Given the description of an element on the screen output the (x, y) to click on. 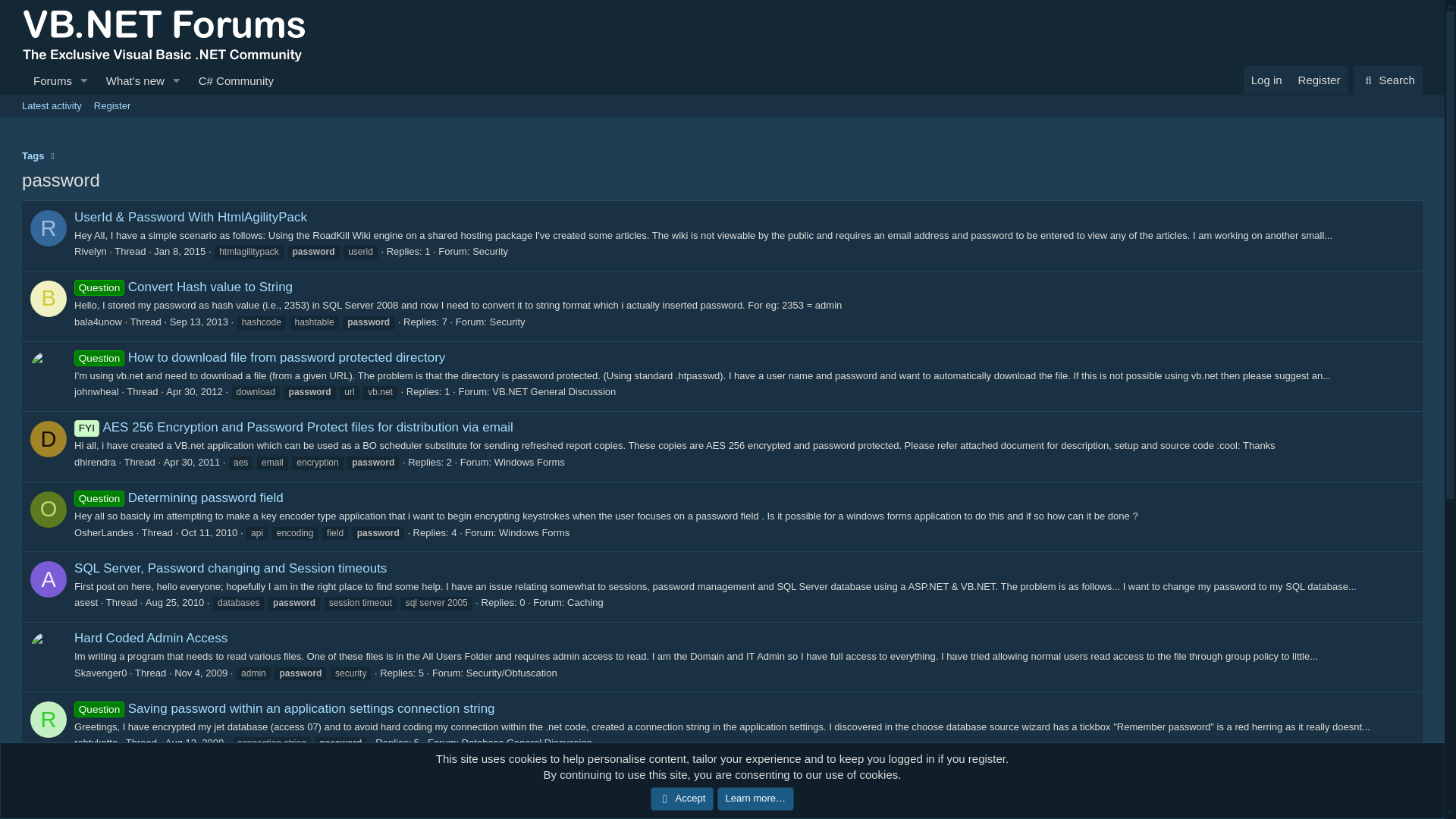
Register (111, 106)
Aug 25, 2010 at 10:19 AM (174, 602)
What's new (129, 80)
Security (507, 321)
Jan 8, 2015 at 10:37 AM (179, 251)
Latest activity (51, 106)
Question Convert Hash value to String (183, 287)
Search (1388, 80)
Apr 30, 2011 at 12:21 PM (191, 461)
Oct 11, 2010 at 3:41 PM (208, 531)
Jul 7, 2009 at 4:19 PM (167, 813)
Security (489, 251)
D (48, 438)
